Given the description of an element on the screen output the (x, y) to click on. 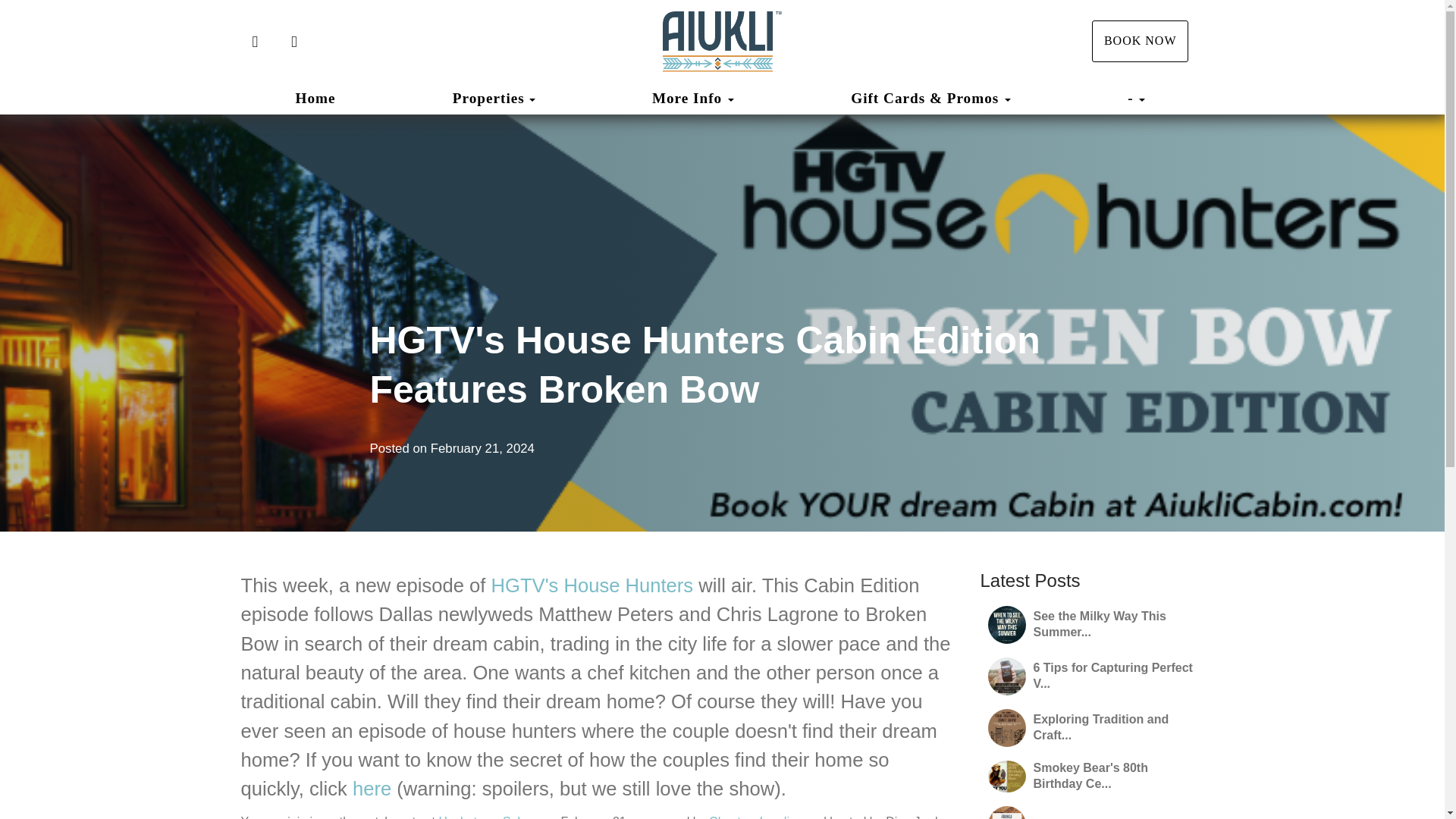
- (1135, 98)
BOOK NOW (1140, 41)
Properties (488, 98)
Aiukli Cabins (722, 41)
Home (315, 98)
More Info (692, 98)
